Given the description of an element on the screen output the (x, y) to click on. 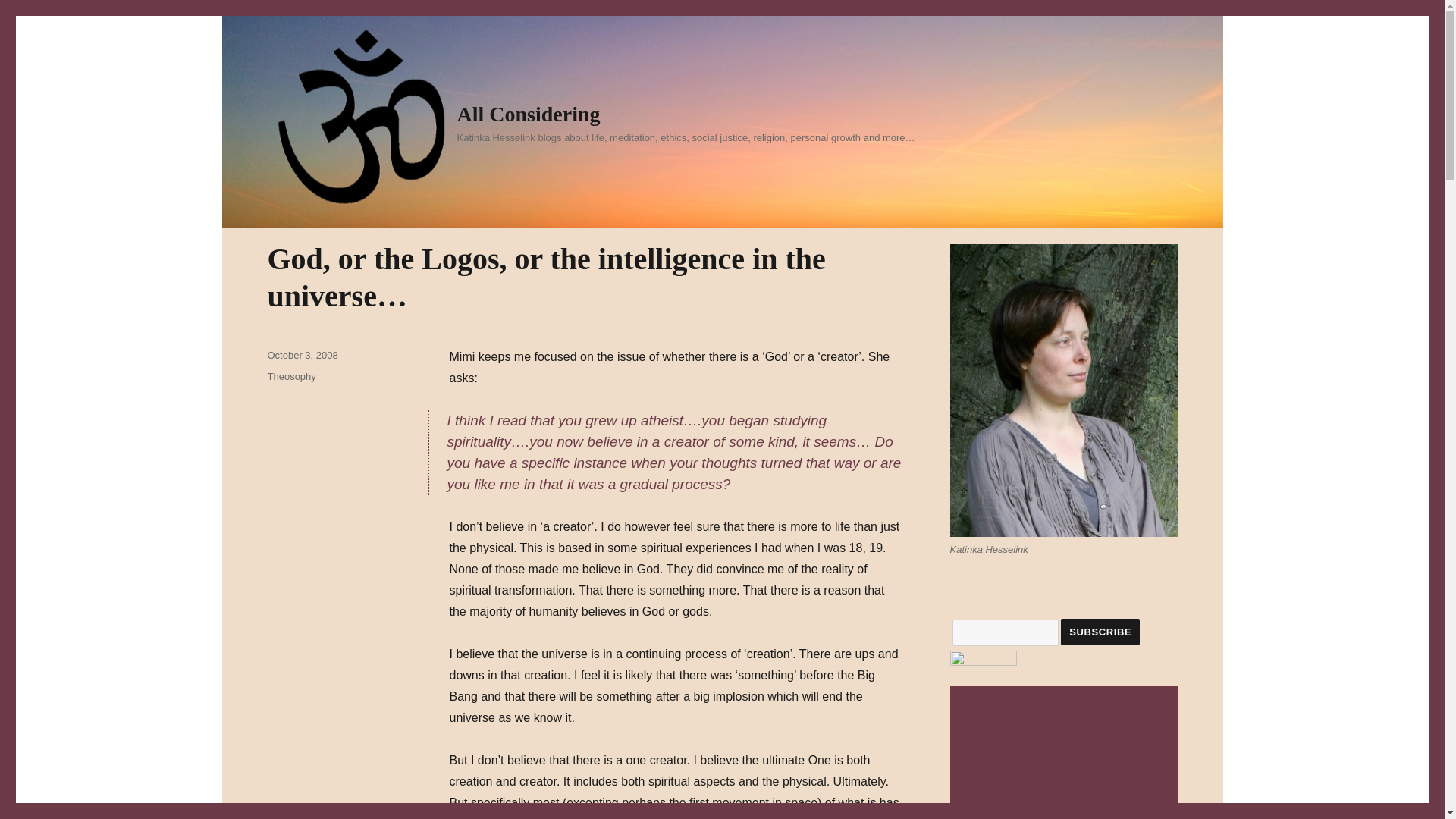
Theosophy (290, 376)
October 3, 2008 (301, 355)
Subscribe (1100, 632)
All Considering (528, 114)
